Given the description of an element on the screen output the (x, y) to click on. 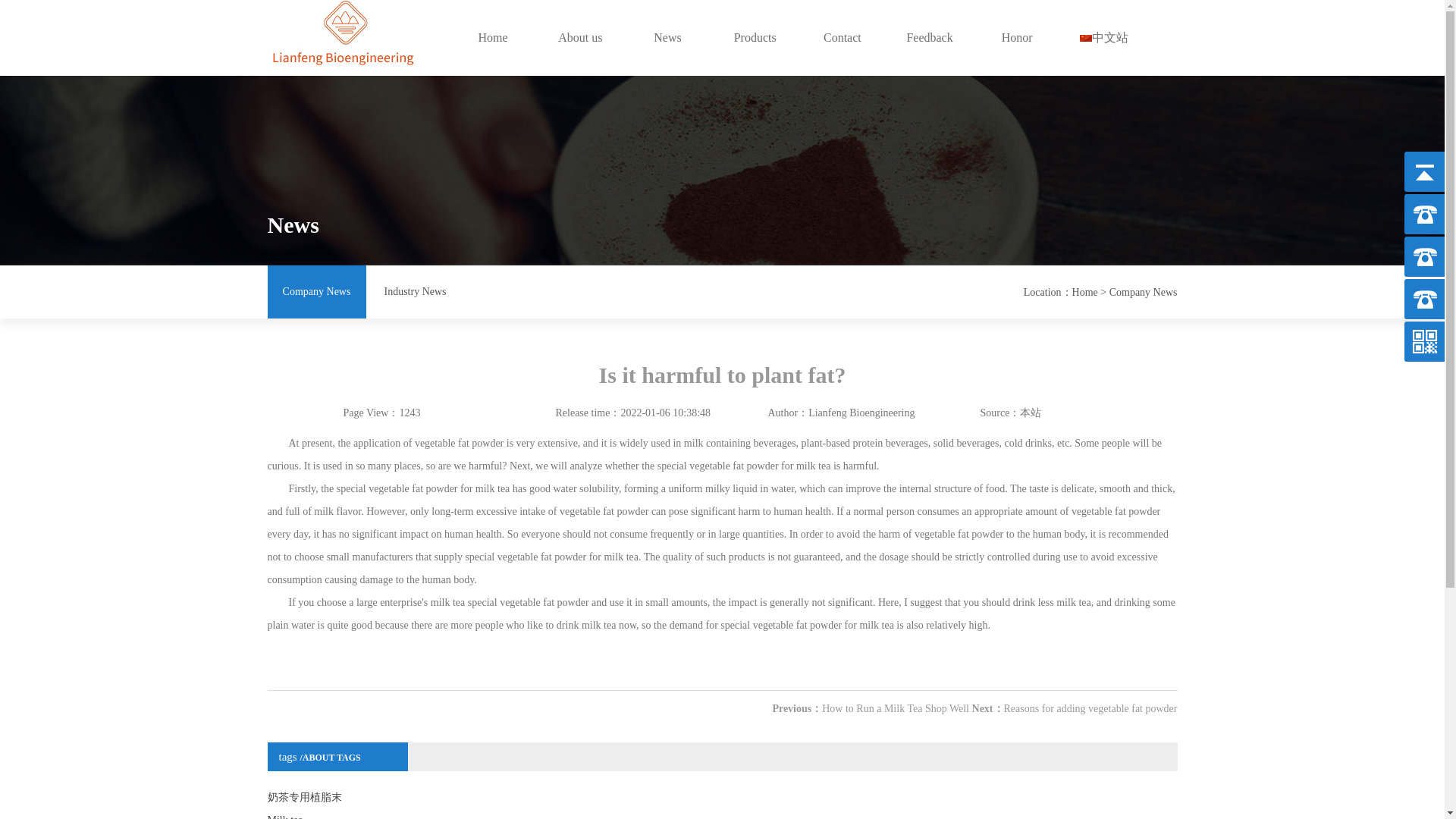
About us (580, 37)
How to Run a Milk Tea Shop Well (895, 708)
Products (754, 37)
Company News (1143, 292)
News (667, 37)
Honor (1017, 37)
Industry News (414, 291)
Feedback (928, 37)
